Given the description of an element on the screen output the (x, y) to click on. 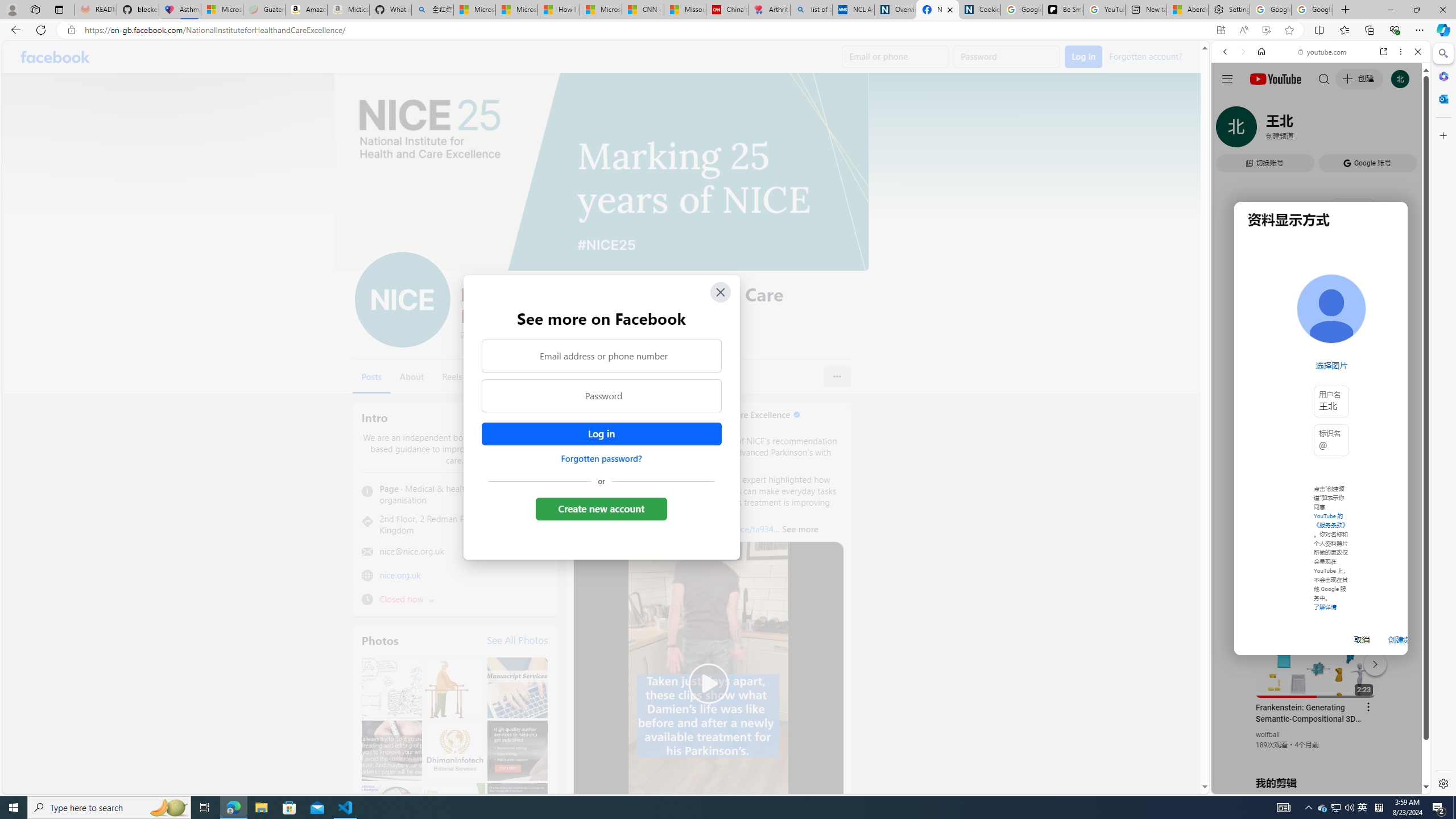
Forgotten password? (601, 458)
Accessible login button (601, 433)
